Given the description of an element on the screen output the (x, y) to click on. 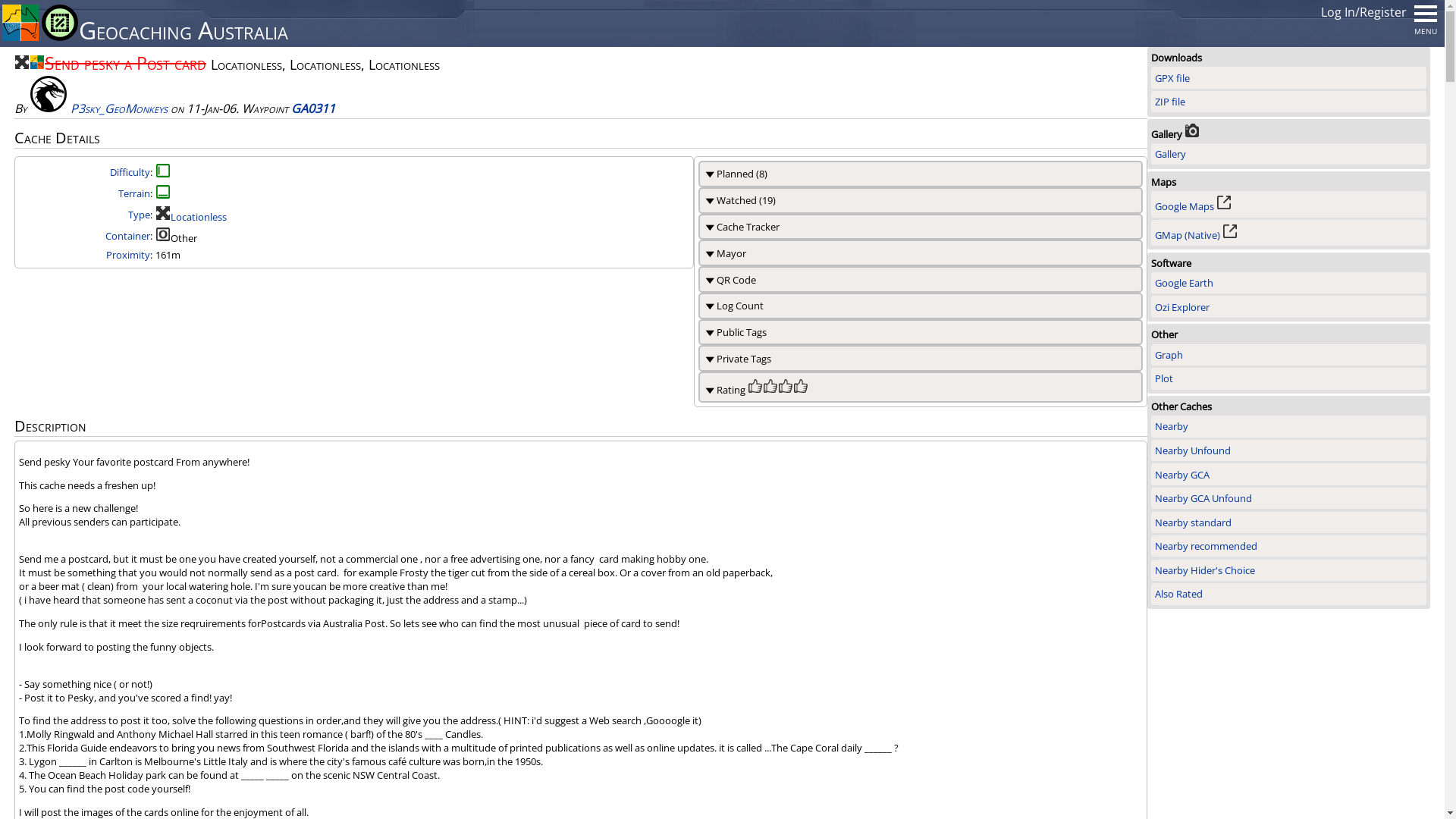
Geocaching Australia Element type: hover (36, 62)
Rating Element type: hover (754, 389)
Ozi Explorer Element type: text (1288, 305)
Nearby Hider's Choice Element type: text (1288, 569)
QR Code Element type: text (920, 279)
Cache Tracker Element type: text (920, 226)
GA0311 Element type: text (313, 108)
Cacheopoly Element type: hover (59, 36)
Terrain Element type: text (134, 193)
GPX file Element type: text (1288, 85)
Google Maps Element type: text (1184, 206)
Rating Element type: hover (785, 389)
Other Element type: hover (162, 237)
View Gallery Element type: hover (1191, 134)
Graph Element type: text (1288, 363)
Public Tags Element type: text (920, 332)
Also Rated Element type: text (1288, 593)
ZIP file Element type: text (1288, 101)
Plot Element type: text (1288, 378)
Proximity Element type: text (128, 254)
Difficulty Element type: text (129, 171)
Rating Element type: text (920, 386)
Log Count Element type: text (920, 305)
Neutral Element type: hover (48, 95)
Type Element type: text (139, 214)
Locationless Element type: hover (162, 216)
Private Tags Element type: text (920, 358)
1 Element type: hover (162, 174)
Nearby recommended Element type: text (1288, 545)
Gallery Element type: text (1288, 162)
Container Element type: text (127, 235)
Google Earth Element type: text (1288, 291)
Nearby GCA Element type: text (1288, 473)
GMap (Native) Element type: text (1187, 234)
Geocaching Australia Element type: hover (20, 36)
Watched (19) Element type: text (920, 200)
Log In/Register Element type: text (1363, 11)
1 Element type: hover (162, 195)
Nearby GCA Unfound Element type: text (1288, 497)
P3sky_GeoMonkeys Element type: text (118, 108)
Locationless Element type: hover (21, 62)
Mayor Element type: text (920, 252)
Locationless Element type: text (198, 216)
Nearby Unfound Element type: text (1288, 450)
Planned (8) Element type: text (920, 173)
New Window Element type: hover (1223, 206)
Rating Element type: hover (800, 389)
Send pesky a Post card Element type: text (125, 62)
Rating Element type: hover (770, 389)
Nearby standard Element type: text (1288, 521)
New Window Element type: hover (1229, 234)
Nearby Element type: text (1288, 434)
